Given the description of an element on the screen output the (x, y) to click on. 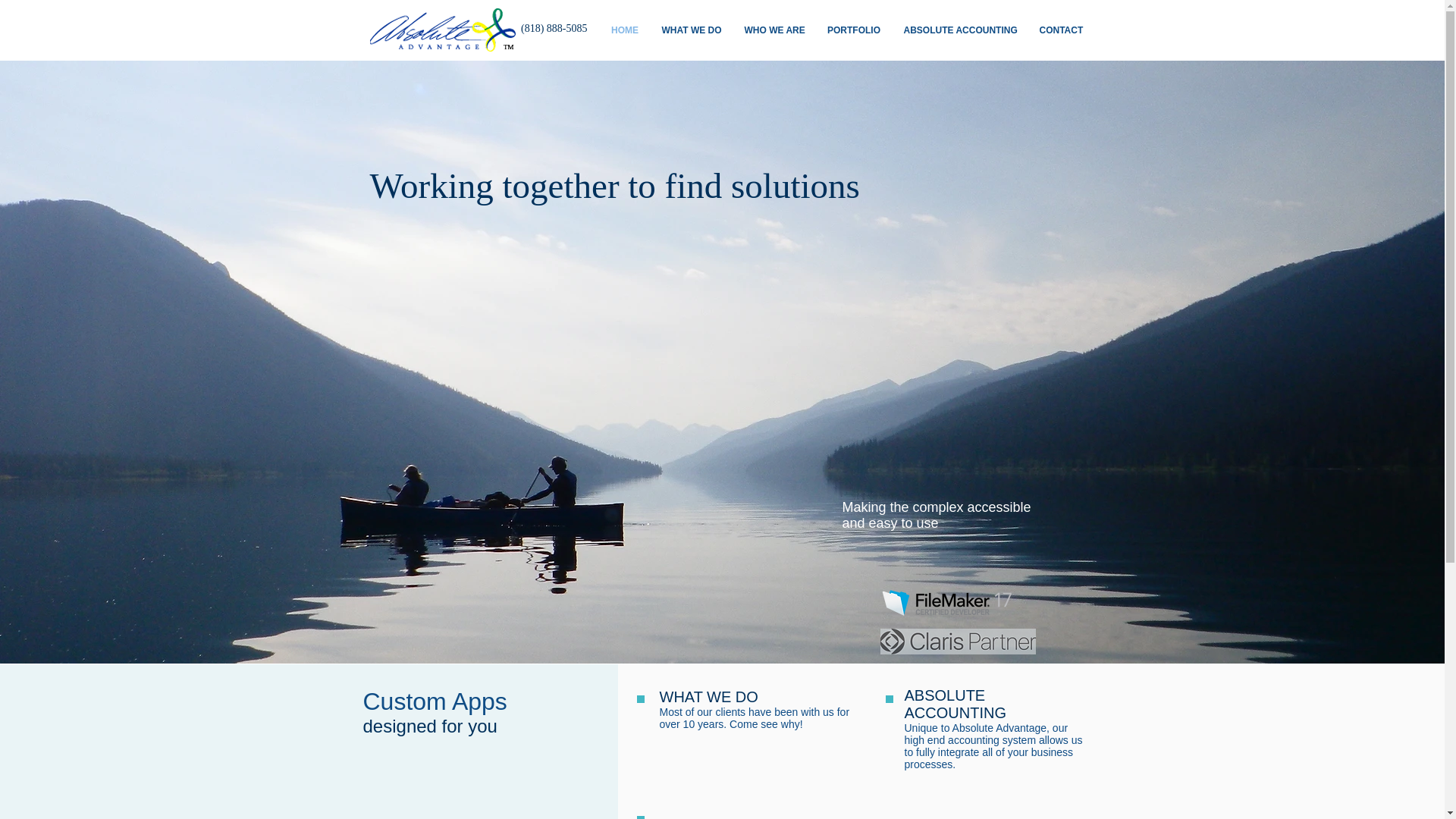
HOME (623, 29)
ABSOLUTE ACCOUNTING (959, 29)
WHAT WE DO (691, 29)
CONTACT (1060, 29)
WHO WE ARE (773, 29)
WHAT WE DO (708, 696)
PORTFOLIO (853, 29)
ABSOLUTE ACCOUNTING (955, 704)
